Given the description of an element on the screen output the (x, y) to click on. 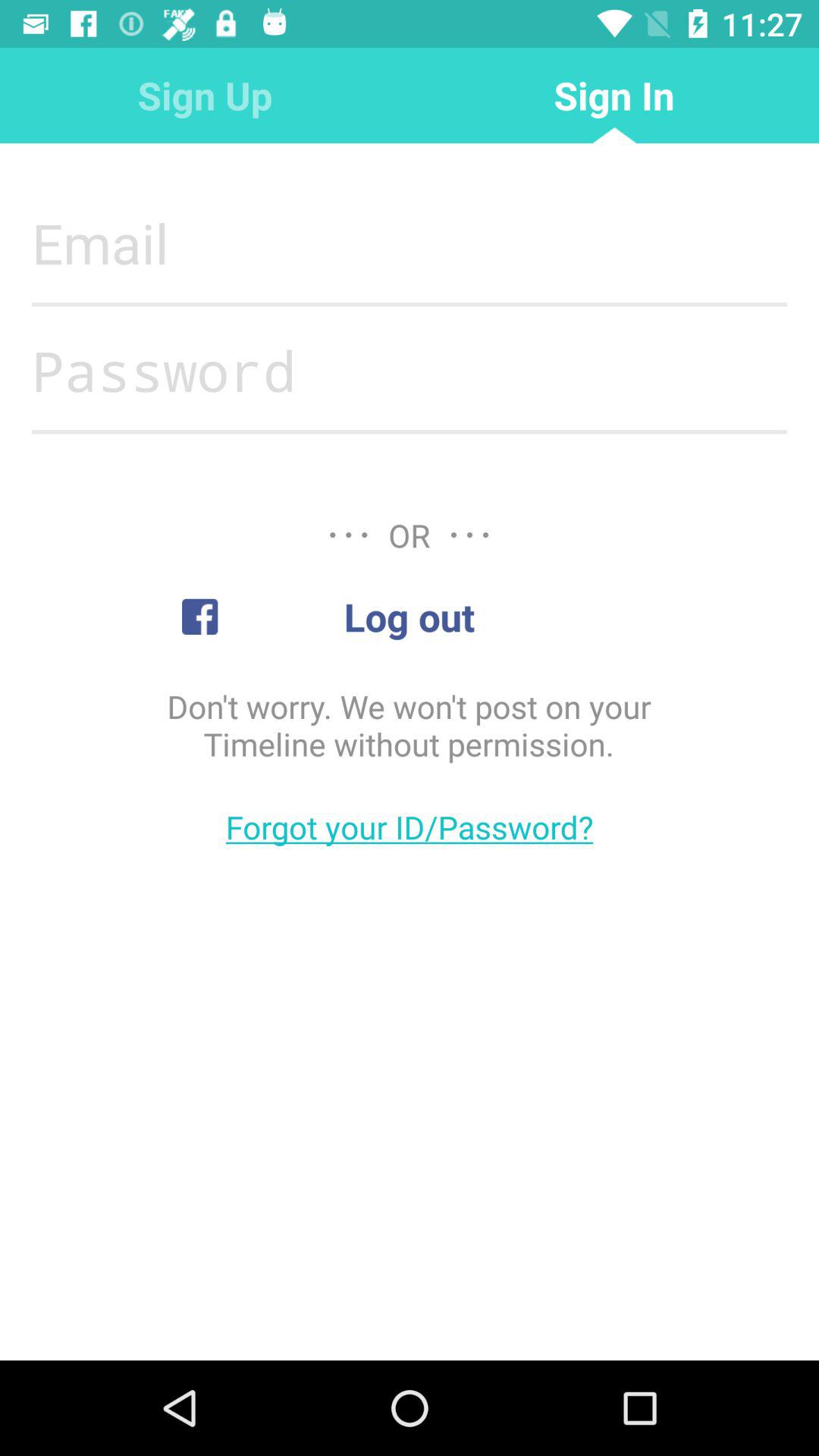
flip to the forgot your id item (409, 826)
